Given the description of an element on the screen output the (x, y) to click on. 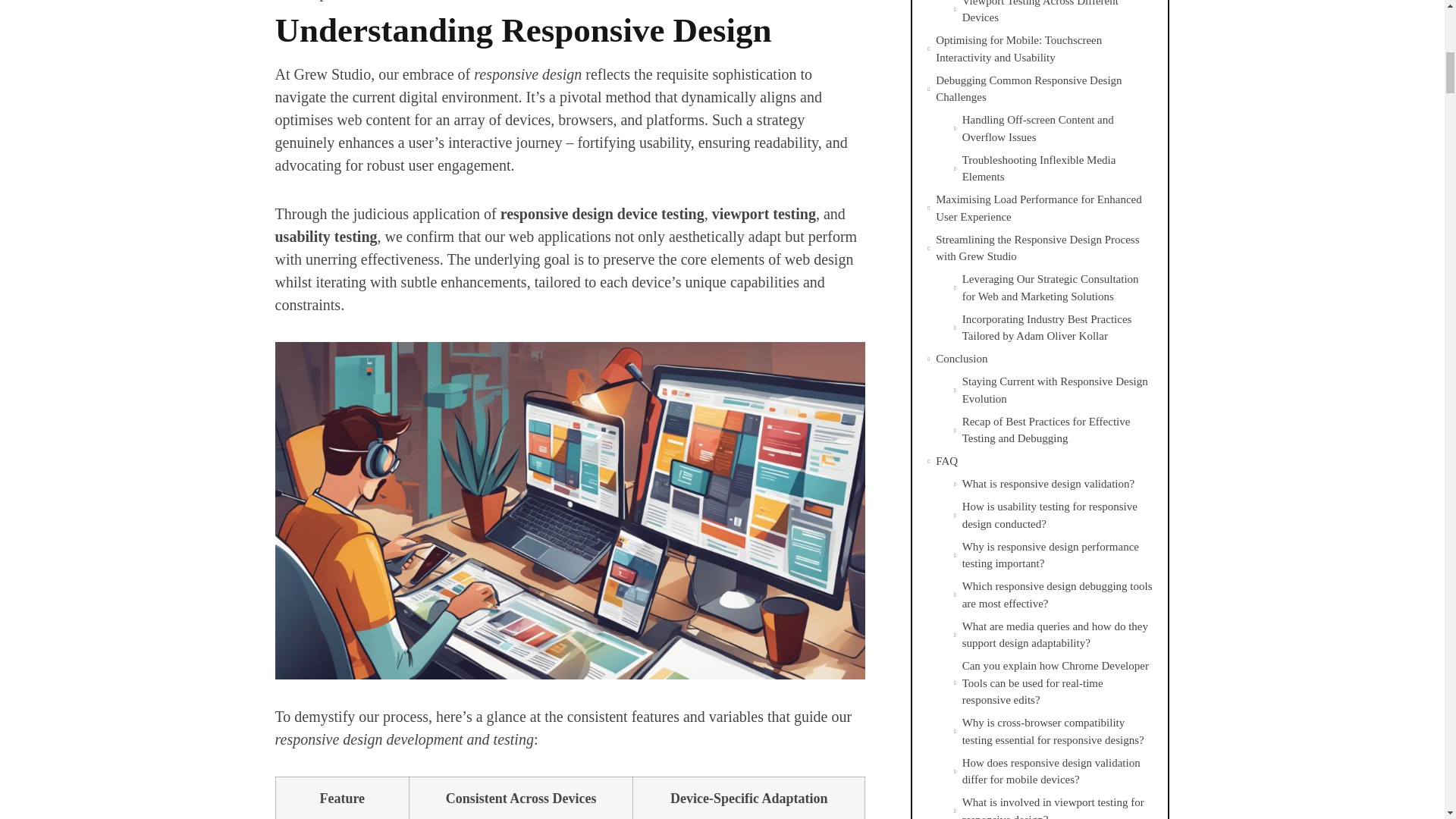
Maximising Load Performance for Enhanced User Experience (1044, 207)
Viewport Testing Across Different Devices (1057, 13)
Debugging Common Responsive Design Challenges (1044, 89)
Staying Current with Responsive Design Evolution (1057, 390)
Why is responsive design performance testing important? (1057, 555)
Conclusion (961, 358)
Troubleshooting Inflexible Media Elements (1057, 168)
